Given the description of an element on the screen output the (x, y) to click on. 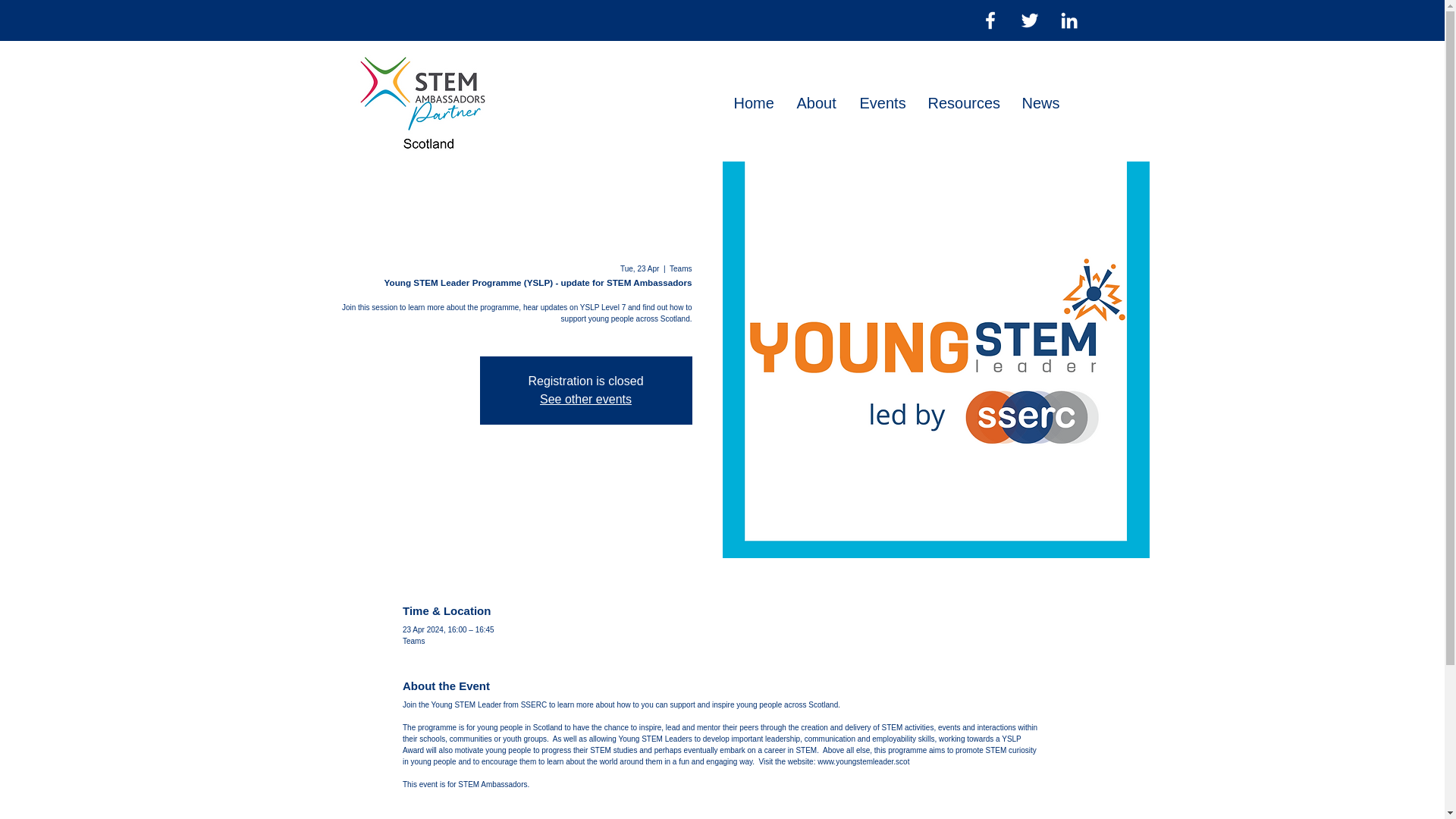
Home (753, 103)
About (817, 103)
Events (881, 103)
See other events (585, 399)
www.youngstemleader.scot (862, 760)
Resources (962, 103)
News (1040, 103)
